Given the description of an element on the screen output the (x, y) to click on. 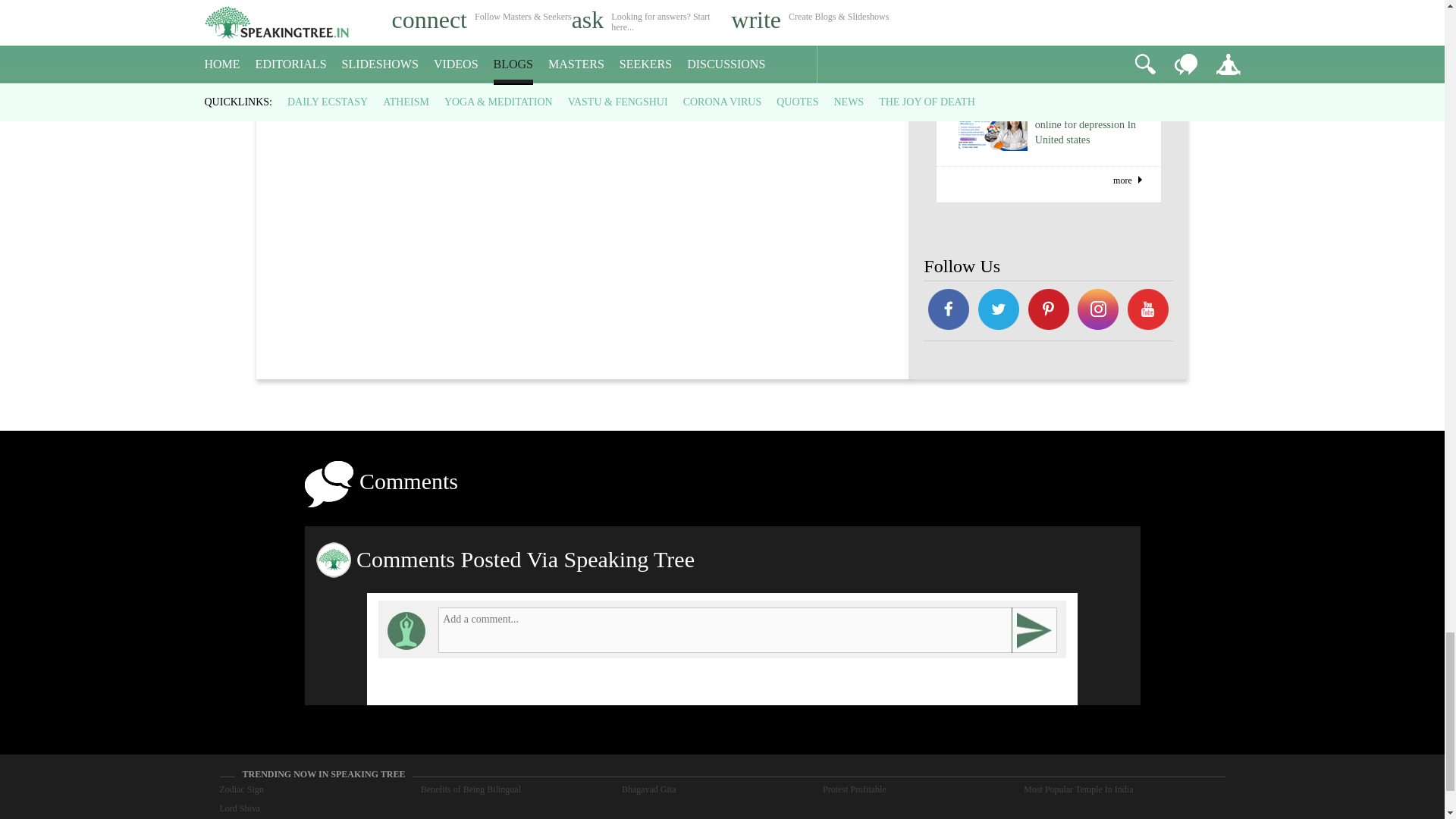
Speaking Tree FaceBook (1048, 311)
Speaking Tree FaceBook (1099, 311)
Speaking Tree FaceBook (998, 311)
Speaking Tree FaceBook (1147, 311)
Speaking Tree FaceBook (948, 311)
